Given the description of an element on the screen output the (x, y) to click on. 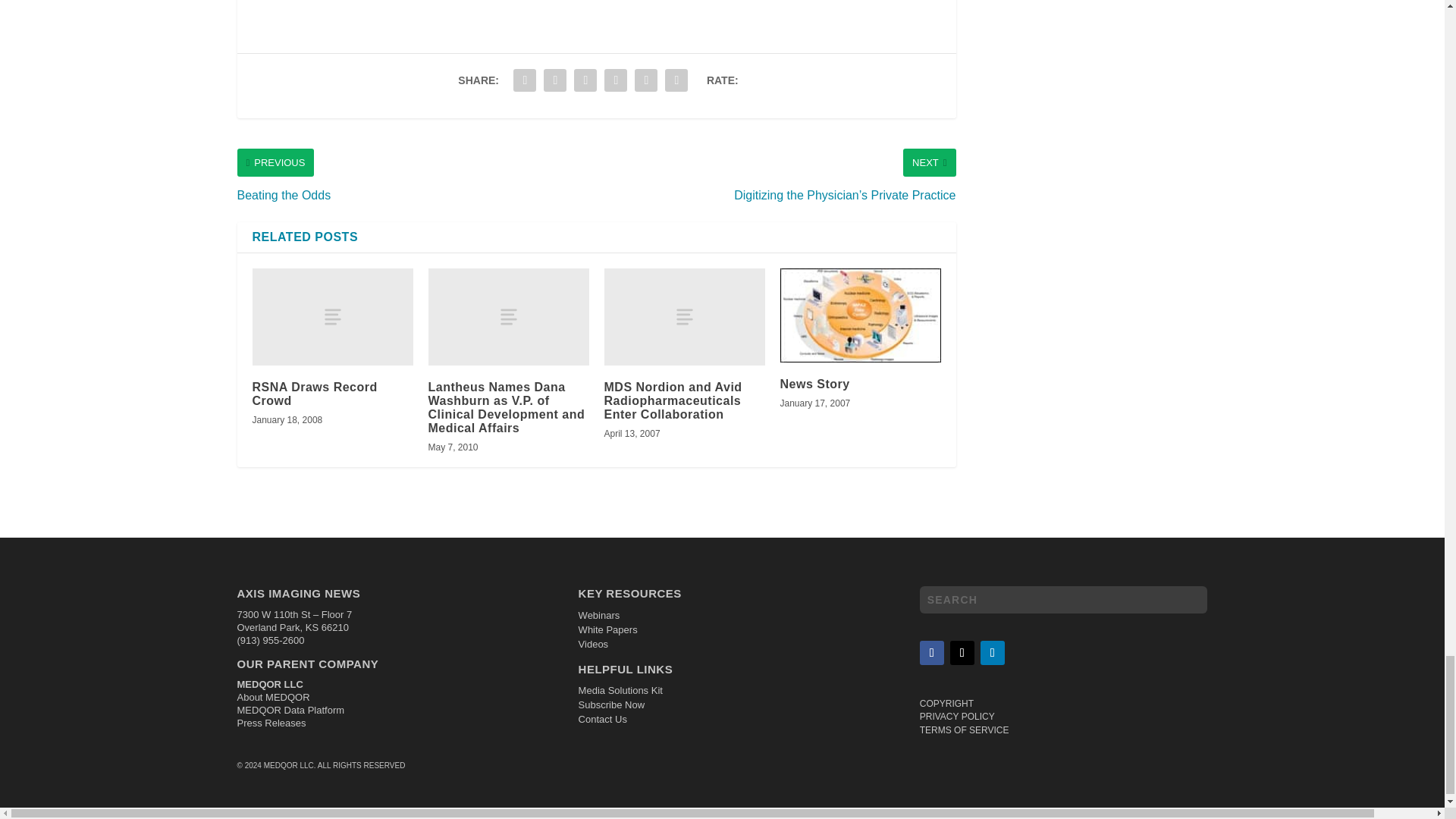
Share "Negotiating with Leverage" via Email (645, 80)
Share "Negotiating with Leverage" via Buffer (614, 80)
Share "Negotiating with Leverage" via Twitter (555, 80)
RSNA Draws Record Crowd (314, 393)
RSNA Draws Record Crowd (331, 316)
News Story (859, 315)
Share "Negotiating with Leverage" via Print (676, 80)
Share "Negotiating with Leverage" via LinkedIn (584, 80)
